Given the description of an element on the screen output the (x, y) to click on. 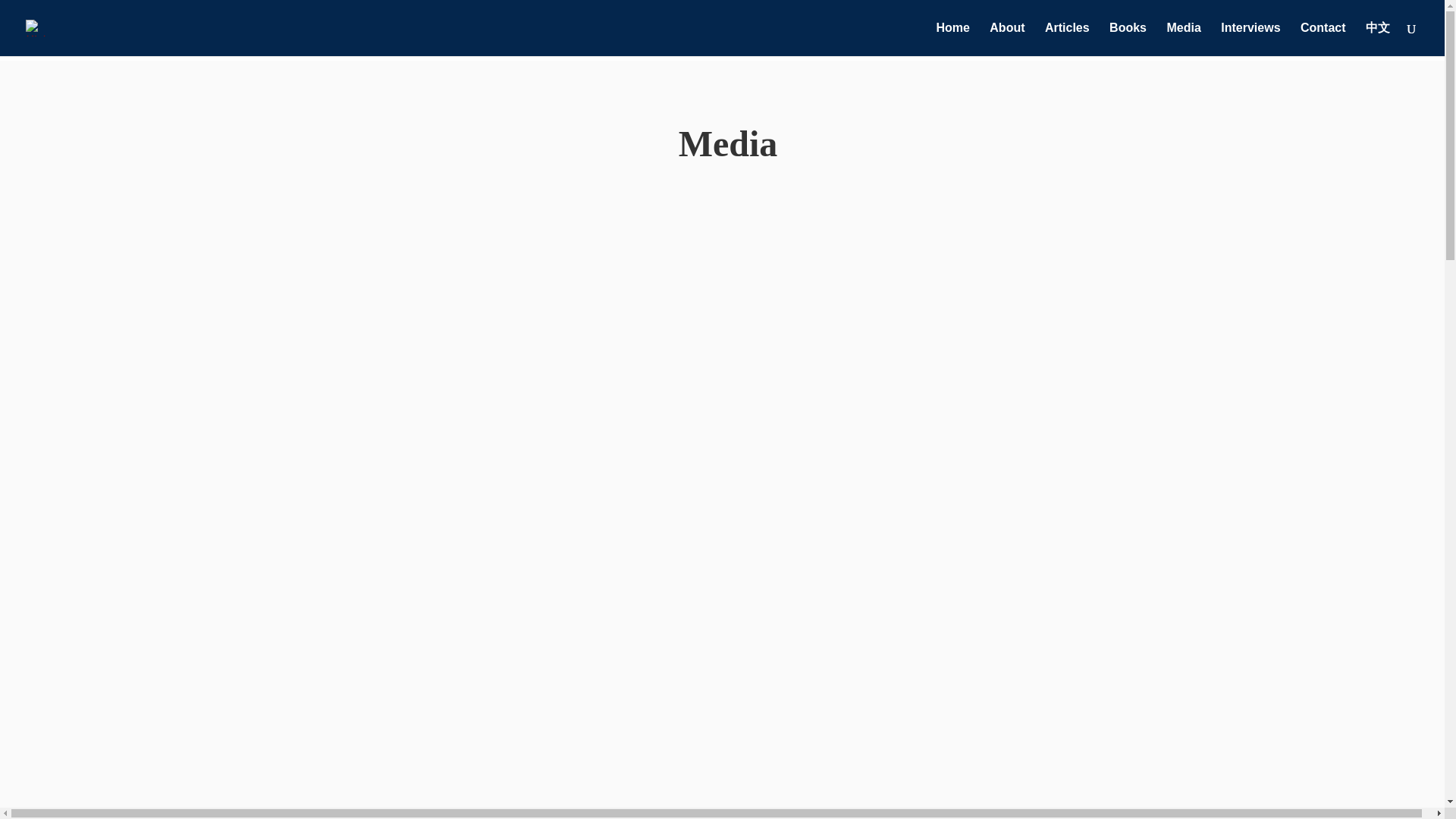
Home (952, 39)
Interviews (1250, 39)
Media (1182, 39)
Books (1128, 39)
Contact (1322, 39)
Articles (1067, 39)
About (1007, 39)
